Given the description of an element on the screen output the (x, y) to click on. 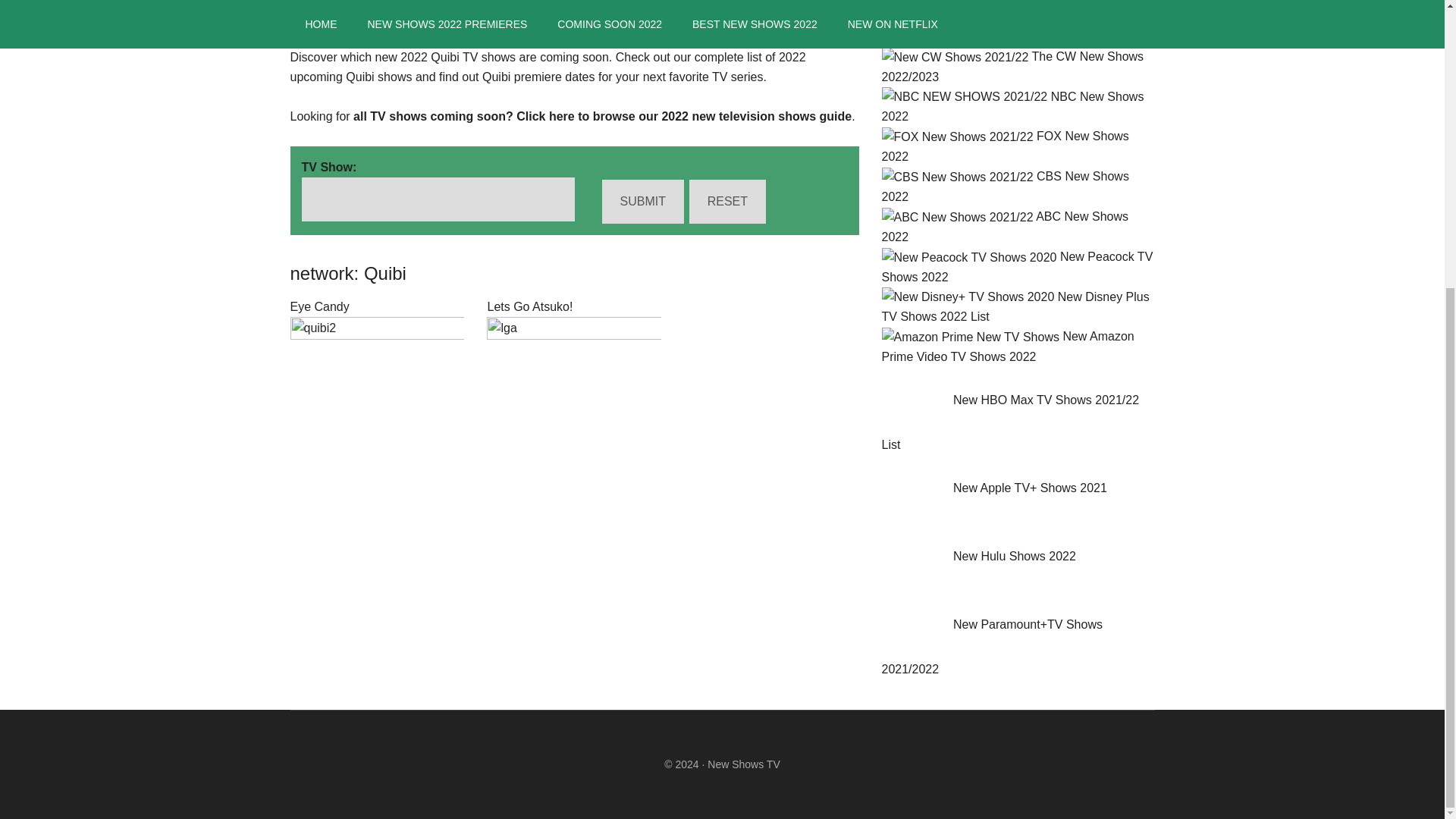
ABC New Shows 2022 (1004, 226)
CBS New Shows 2022 (1004, 186)
Reset (726, 201)
NBC New Shows 2022 (1011, 106)
Eye Candy (319, 306)
Submit (643, 201)
FOX New Shows 2022 (1004, 145)
New Peacock TV Shows 2022 (1016, 266)
Submit (643, 201)
